Given the description of an element on the screen output the (x, y) to click on. 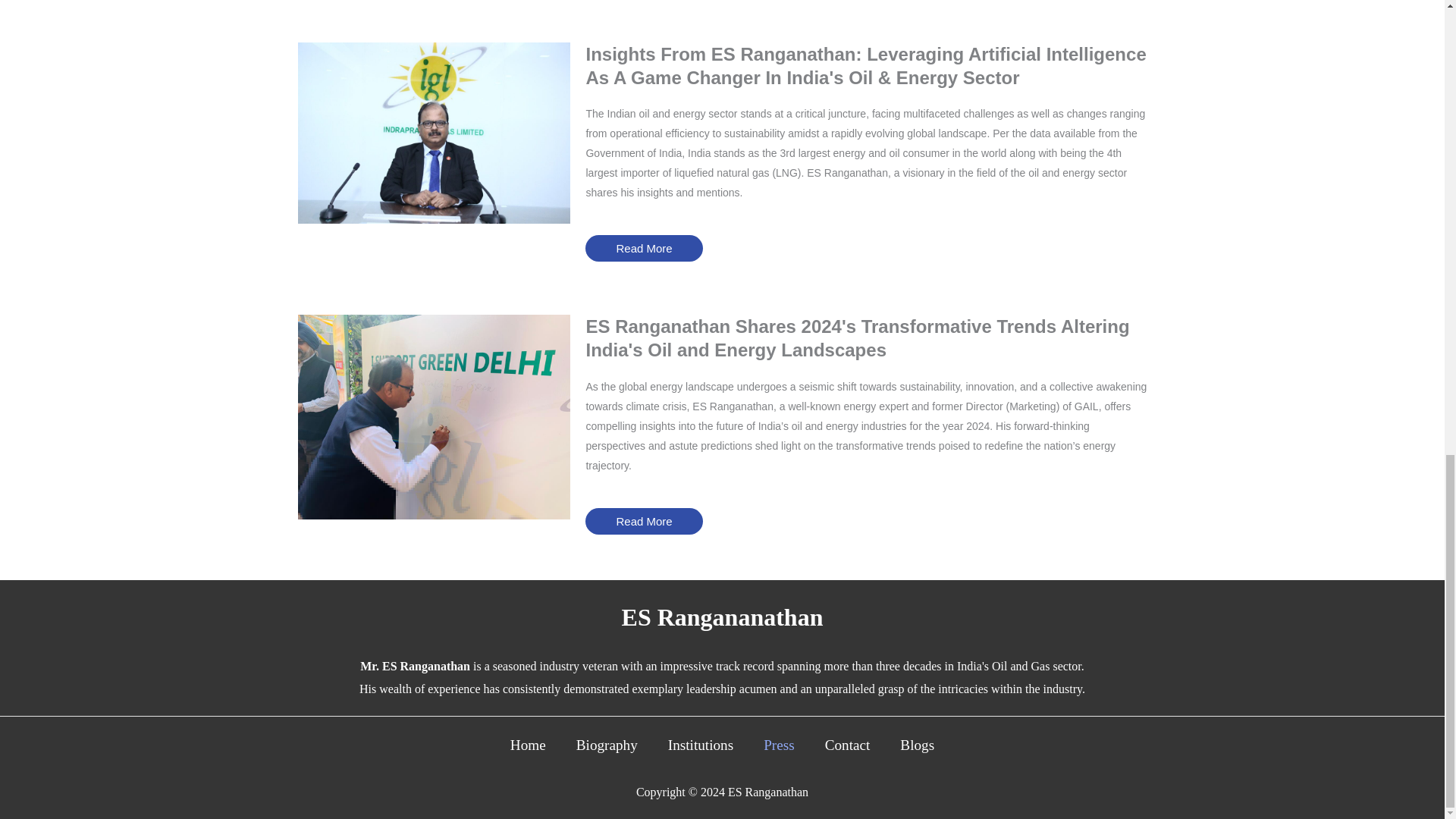
Read More (643, 248)
Read More (643, 520)
Press (778, 752)
Biography (606, 752)
Home (527, 752)
Contact (847, 752)
Blogs (917, 752)
Institutions (700, 752)
